Given the description of an element on the screen output the (x, y) to click on. 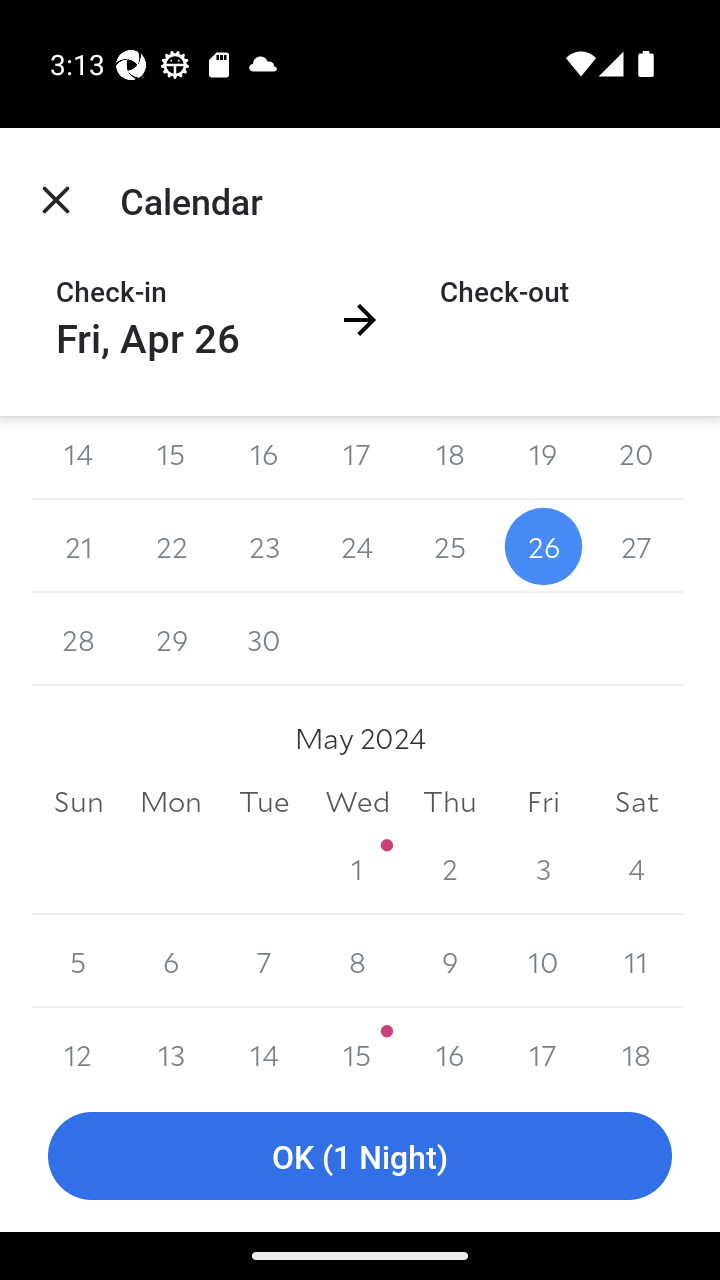
14 14 April 2024 (78, 458)
15 15 April 2024 (171, 458)
16 16 April 2024 (264, 458)
17 17 April 2024 (357, 458)
18 18 April 2024 (449, 458)
19 19 April 2024 (542, 458)
20 20 April 2024 (636, 458)
21 21 April 2024 (78, 546)
22 22 April 2024 (171, 546)
23 23 April 2024 (264, 546)
24 24 April 2024 (357, 546)
25 25 April 2024 (449, 546)
26 26 April 2024 (542, 546)
27 27 April 2024 (636, 546)
28 28 April 2024 (78, 639)
29 29 April 2024 (171, 639)
30 30 April 2024 (264, 639)
Sun (78, 800)
Mon (171, 800)
Tue (264, 800)
Wed (357, 800)
Thu (449, 800)
Fri (542, 800)
Sat (636, 800)
1 1 May 2024 (357, 868)
2 2 May 2024 (449, 868)
3 3 May 2024 (542, 868)
4 4 May 2024 (636, 868)
5 5 May 2024 (78, 961)
6 6 May 2024 (171, 961)
7 7 May 2024 (264, 961)
8 8 May 2024 (357, 961)
9 9 May 2024 (449, 961)
10 10 May 2024 (542, 961)
11 11 May 2024 (636, 961)
12 12 May 2024 (78, 1044)
13 13 May 2024 (171, 1044)
14 14 May 2024 (264, 1044)
15 15 May 2024 (357, 1044)
16 16 May 2024 (449, 1044)
17 17 May 2024 (542, 1044)
18 18 May 2024 (636, 1044)
OK (1 Night) (359, 1156)
